Given the description of an element on the screen output the (x, y) to click on. 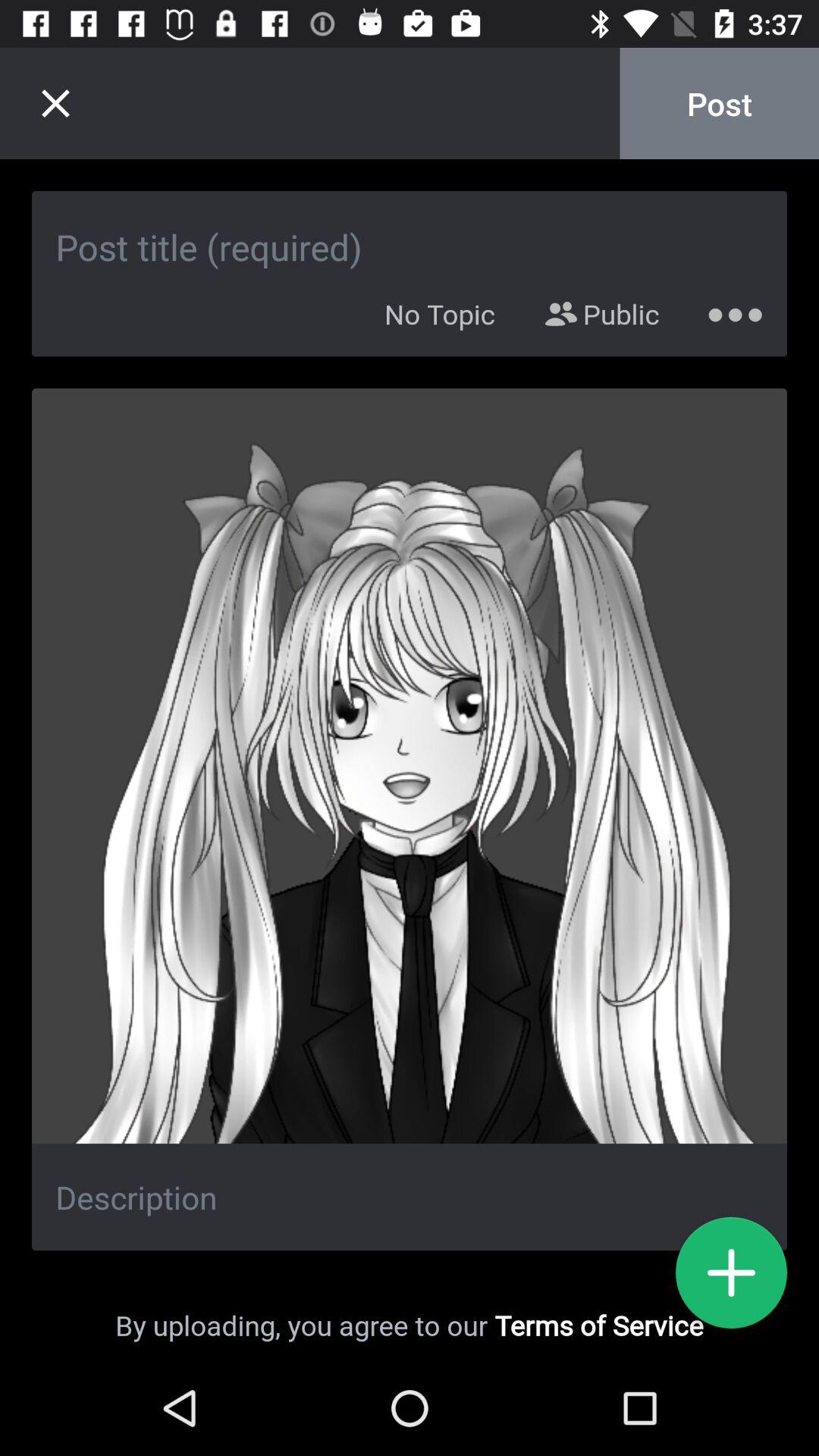
create new post (731, 1272)
